Given the description of an element on the screen output the (x, y) to click on. 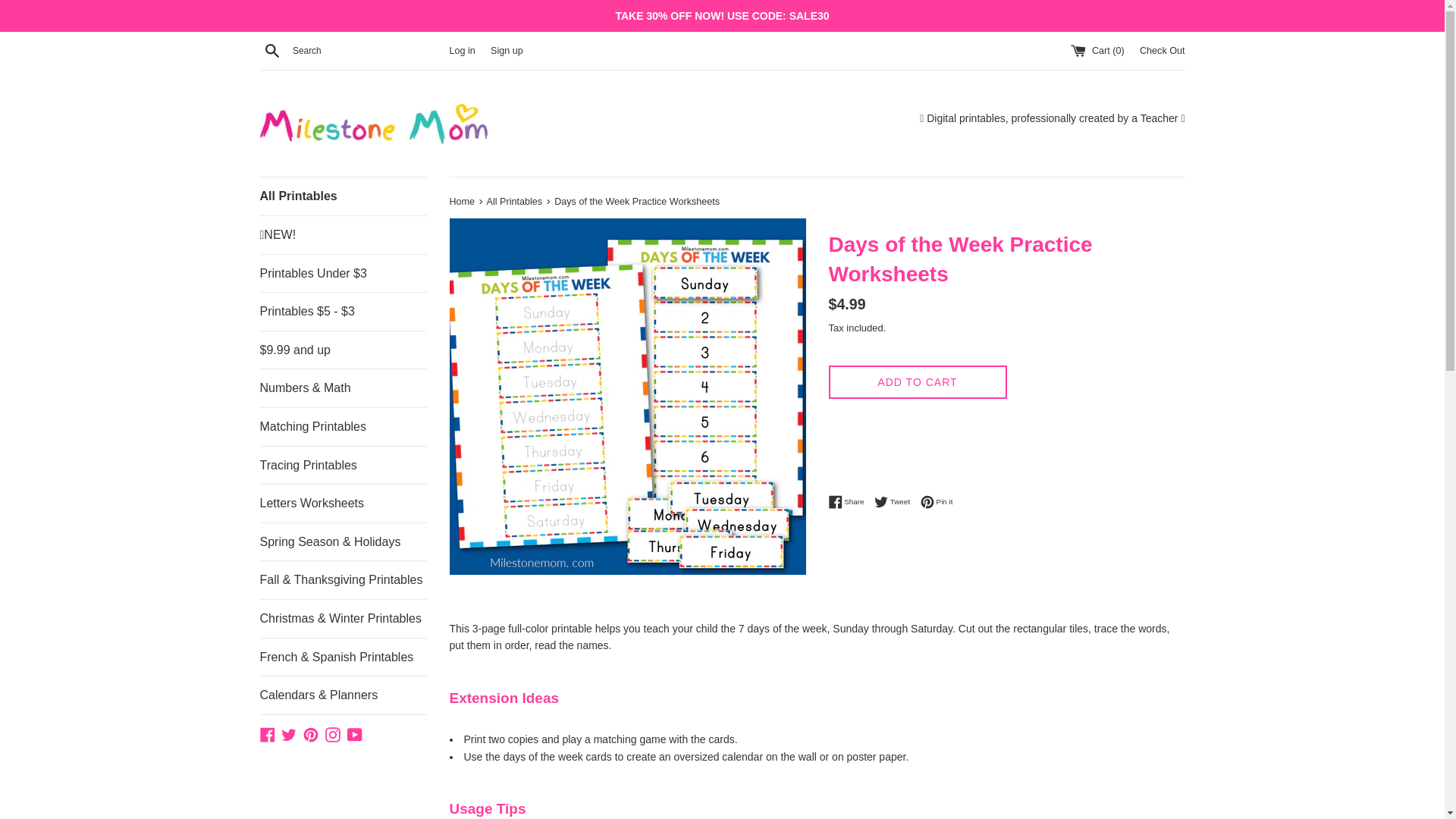
All Printables (515, 201)
YouTube (354, 734)
Tracing Printables (342, 465)
Pin on Pinterest (896, 501)
Check Out (936, 501)
Milestone Mom LLC on Pinterest (1162, 50)
Instagram (310, 734)
Sign up (332, 734)
Back to the frontpage (506, 50)
ADD TO CART (462, 201)
Milestone Mom LLC on YouTube (917, 382)
Tweet on Twitter (354, 734)
Facebook (896, 501)
All Printables (267, 734)
